Given the description of an element on the screen output the (x, y) to click on. 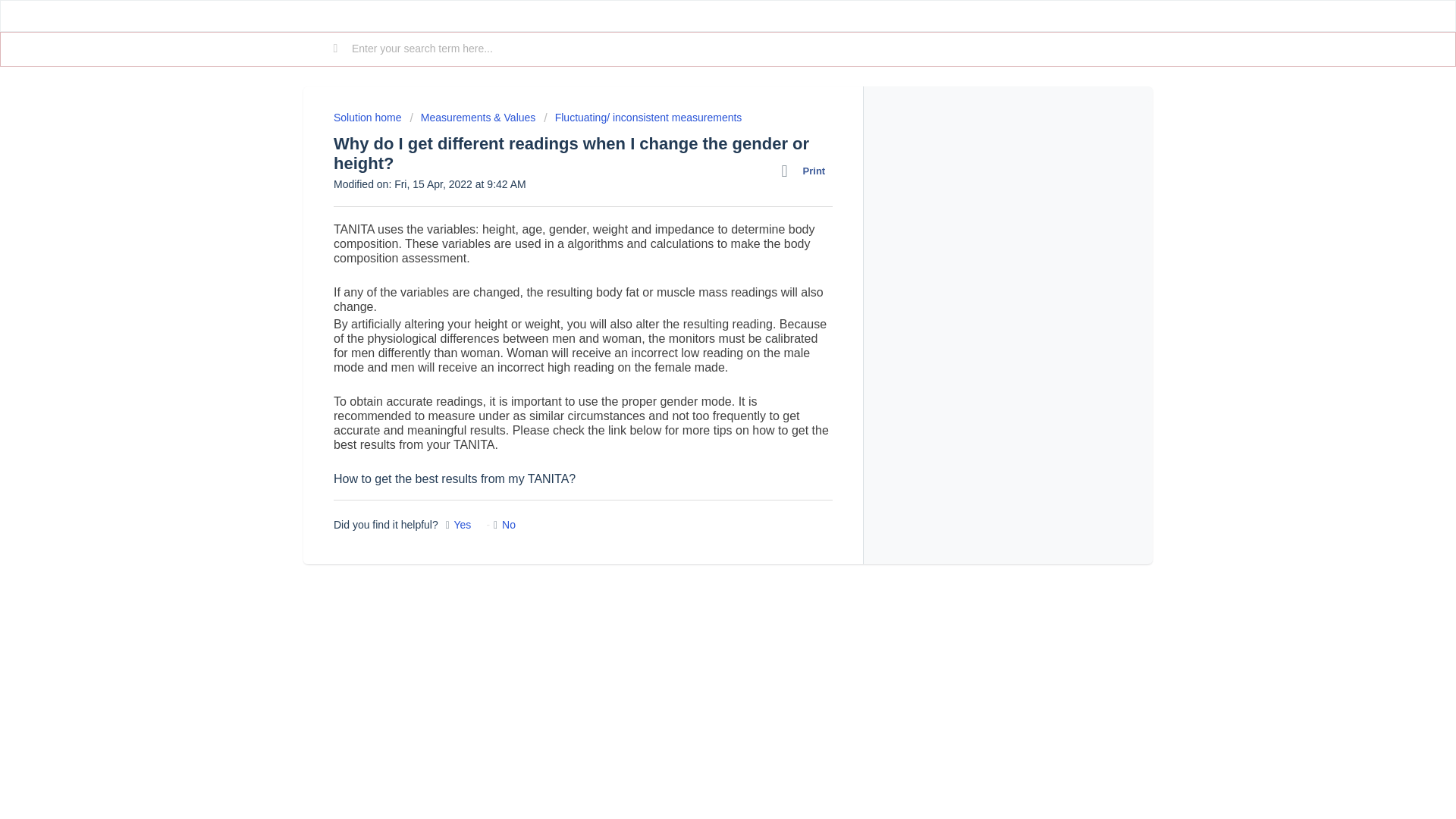
Print (806, 170)
Print this Article (806, 170)
How to get the best results from my TANITA? (454, 478)
Solution home (368, 117)
